Given the description of an element on the screen output the (x, y) to click on. 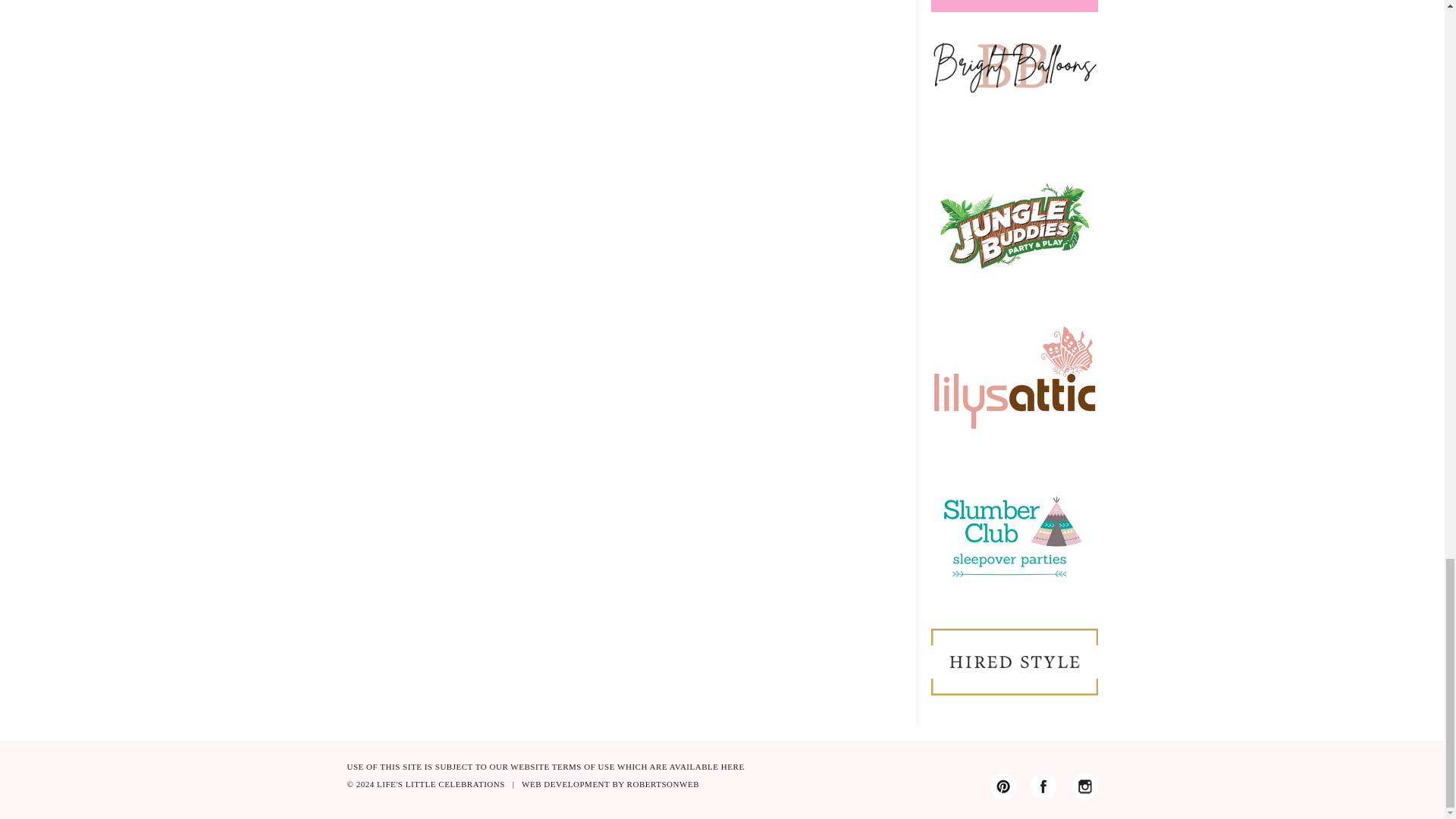
HERE (732, 766)
Jungle Buddies (1014, 224)
bright balloons (1014, 75)
WEB DEVELOPMENT (565, 783)
ROBERTSONWEB (662, 783)
Hired style (1014, 660)
Slumber Club (1014, 528)
